Given the description of an element on the screen output the (x, y) to click on. 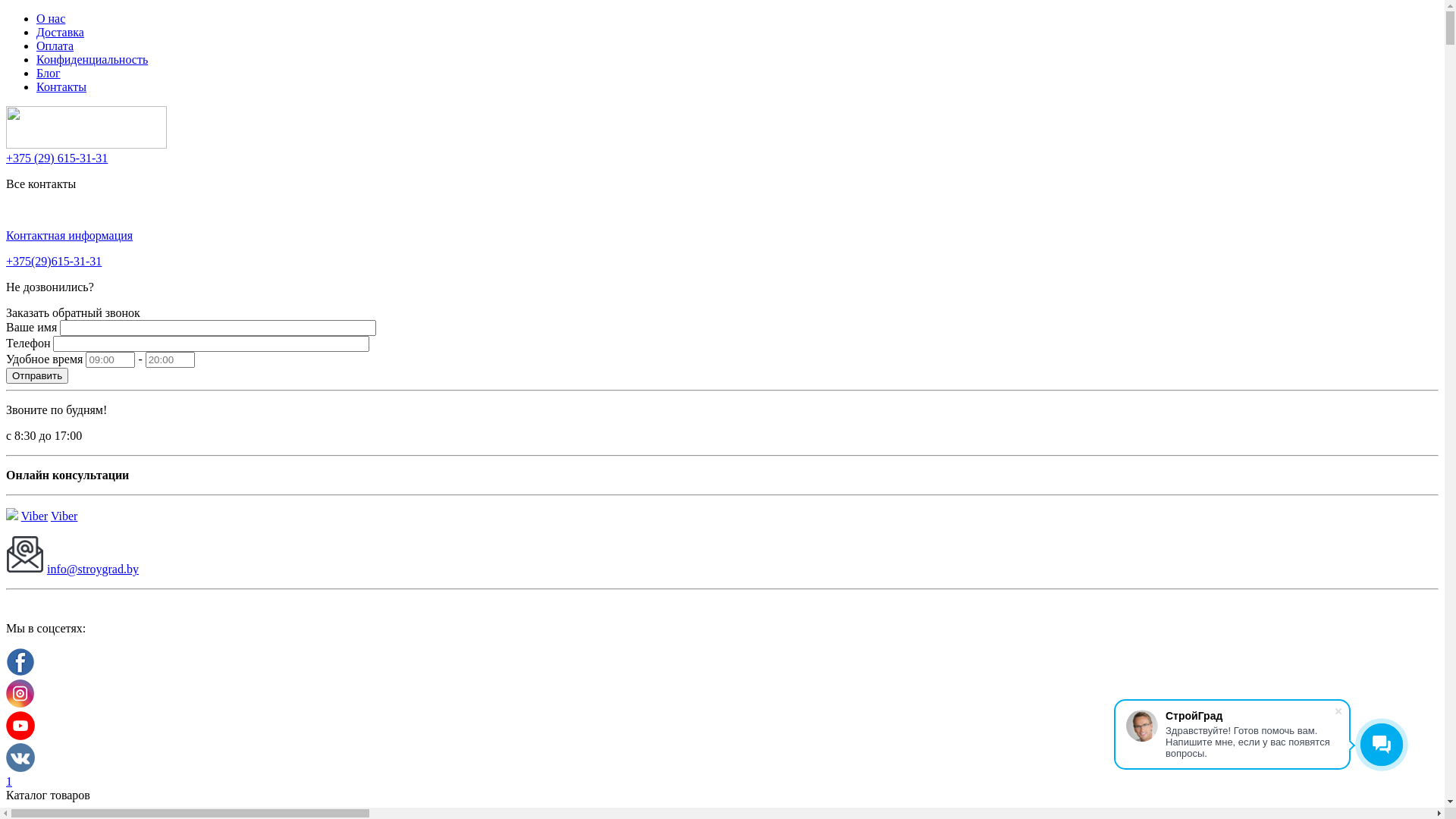
+375(29)615-31-31 Element type: text (53, 260)
1 Element type: text (9, 781)
info@stroygrad.by Element type: text (92, 568)
+375 (29) 615-31-31 Element type: text (56, 157)
Viber Element type: text (34, 515)
Viber Element type: text (63, 515)
